Given the description of an element on the screen output the (x, y) to click on. 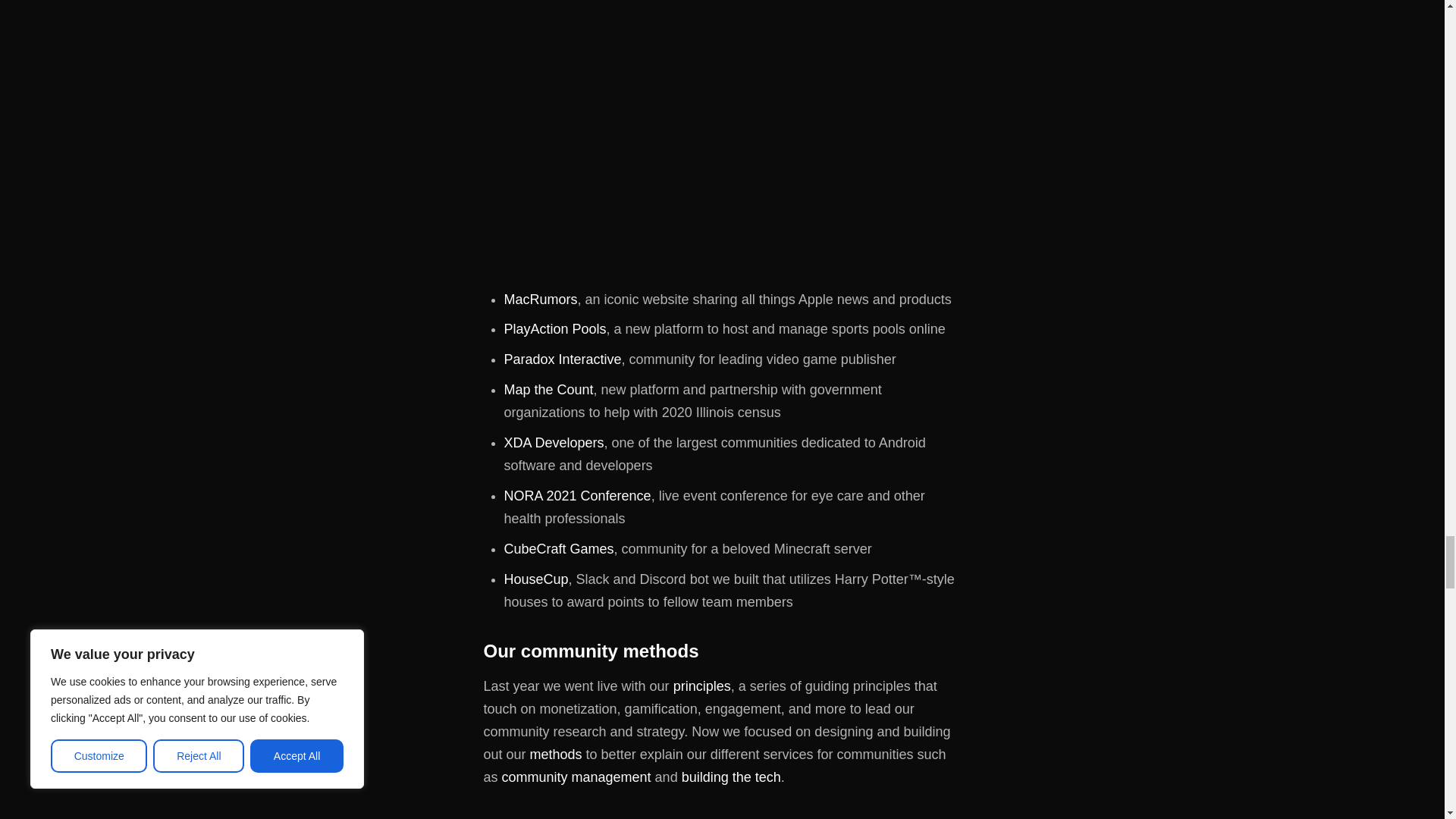
Preview of Audentio case studies 2021 (721, 138)
